Given the description of an element on the screen output the (x, y) to click on. 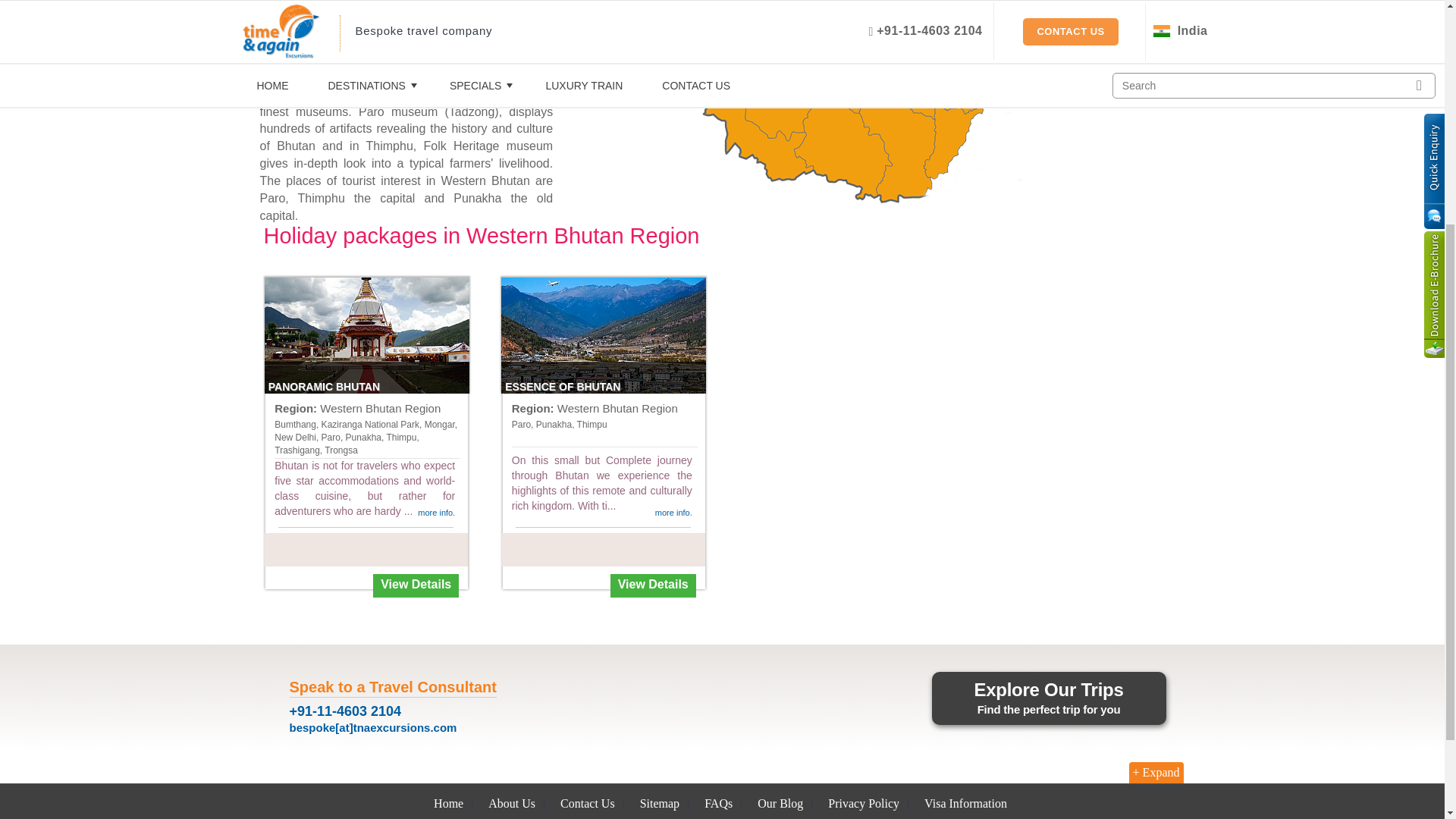
more info. (435, 511)
Thimphu (856, 26)
Western Bhutan Region (380, 408)
Punakha (891, 16)
PANORAMIC BHUTAN (366, 335)
